Given the description of an element on the screen output the (x, y) to click on. 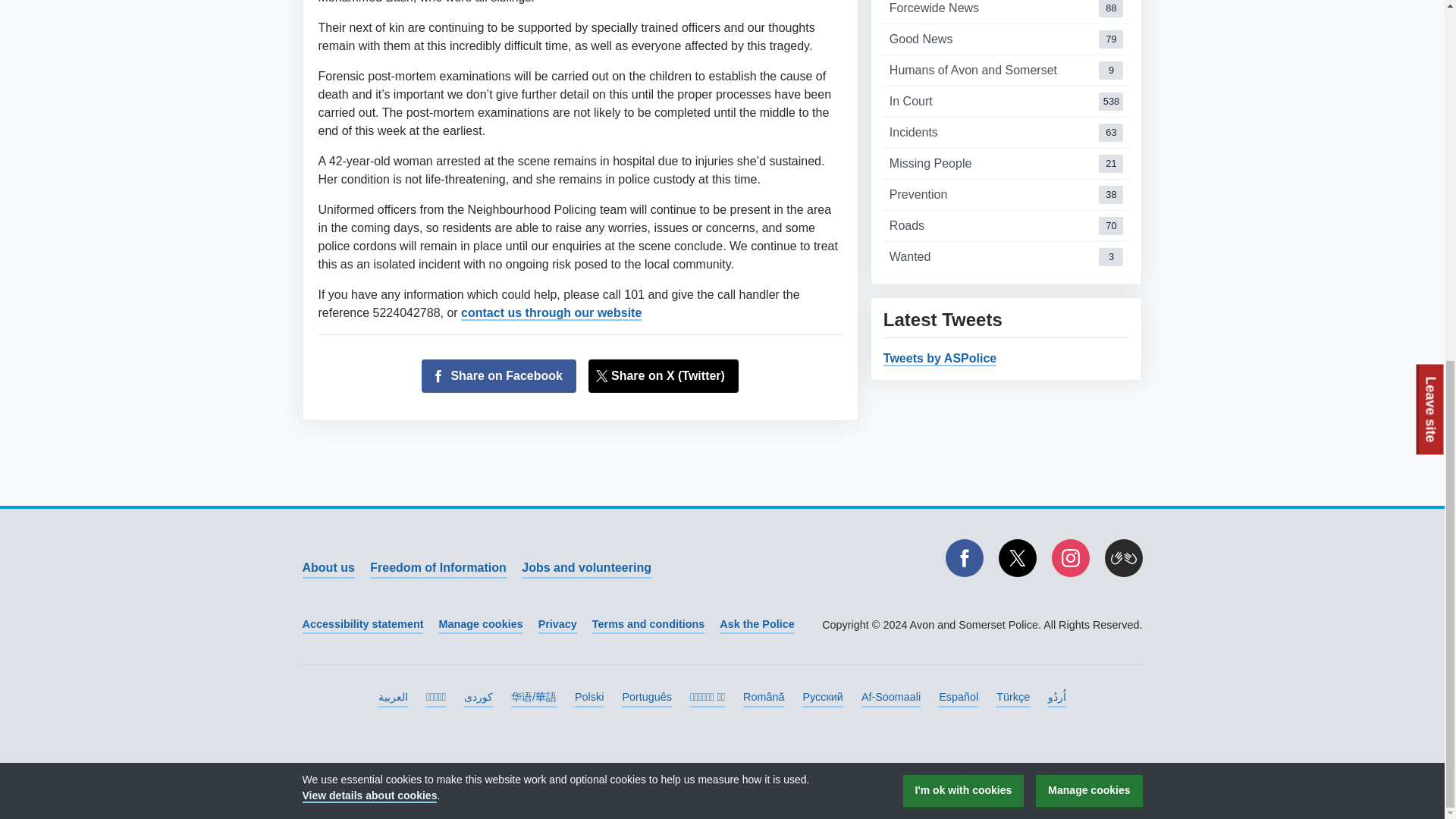
Facebook (963, 557)
contact us through our website (1006, 194)
Instagram (551, 313)
Manage cookies (1006, 256)
Share on Facebook (1070, 557)
Tweets by ASPolice (1088, 151)
View details about cookies (499, 376)
Freedom of Information (1006, 225)
I'm ok with cookies (939, 359)
